Given the description of an element on the screen output the (x, y) to click on. 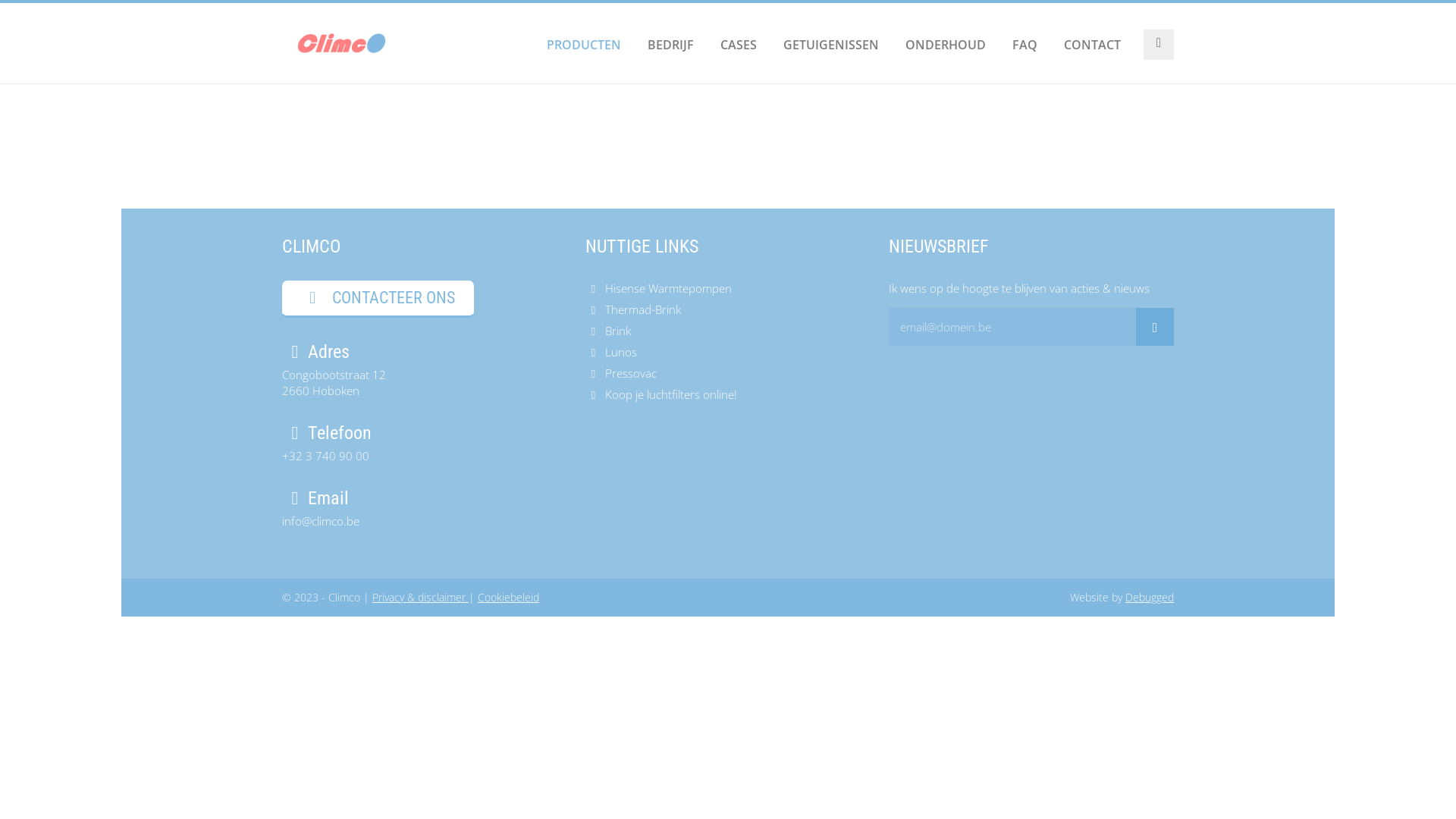
Hisense Warmtepompen Element type: text (727, 288)
GETUIGENISSEN Element type: text (830, 44)
Cookiebeleid Element type: text (508, 596)
Koop je luchtfilters online! Element type: text (727, 394)
CONTACTEER ONS Element type: text (377, 298)
Debugged Element type: text (1149, 596)
PRODUCTEN Element type: text (583, 44)
ONDERHOUD Element type: text (945, 44)
CASES Element type: text (738, 44)
info@climco.be Element type: text (320, 520)
CONTACT Element type: text (1092, 44)
Pressovac Element type: text (727, 373)
Brink Element type: text (727, 330)
Privacy & disclaimer Element type: text (420, 596)
BEDRIJF Element type: text (670, 44)
Thermad-Brink Element type: text (727, 309)
Lunos Element type: text (727, 352)
FAQ Element type: text (1024, 44)
